Given the description of an element on the screen output the (x, y) to click on. 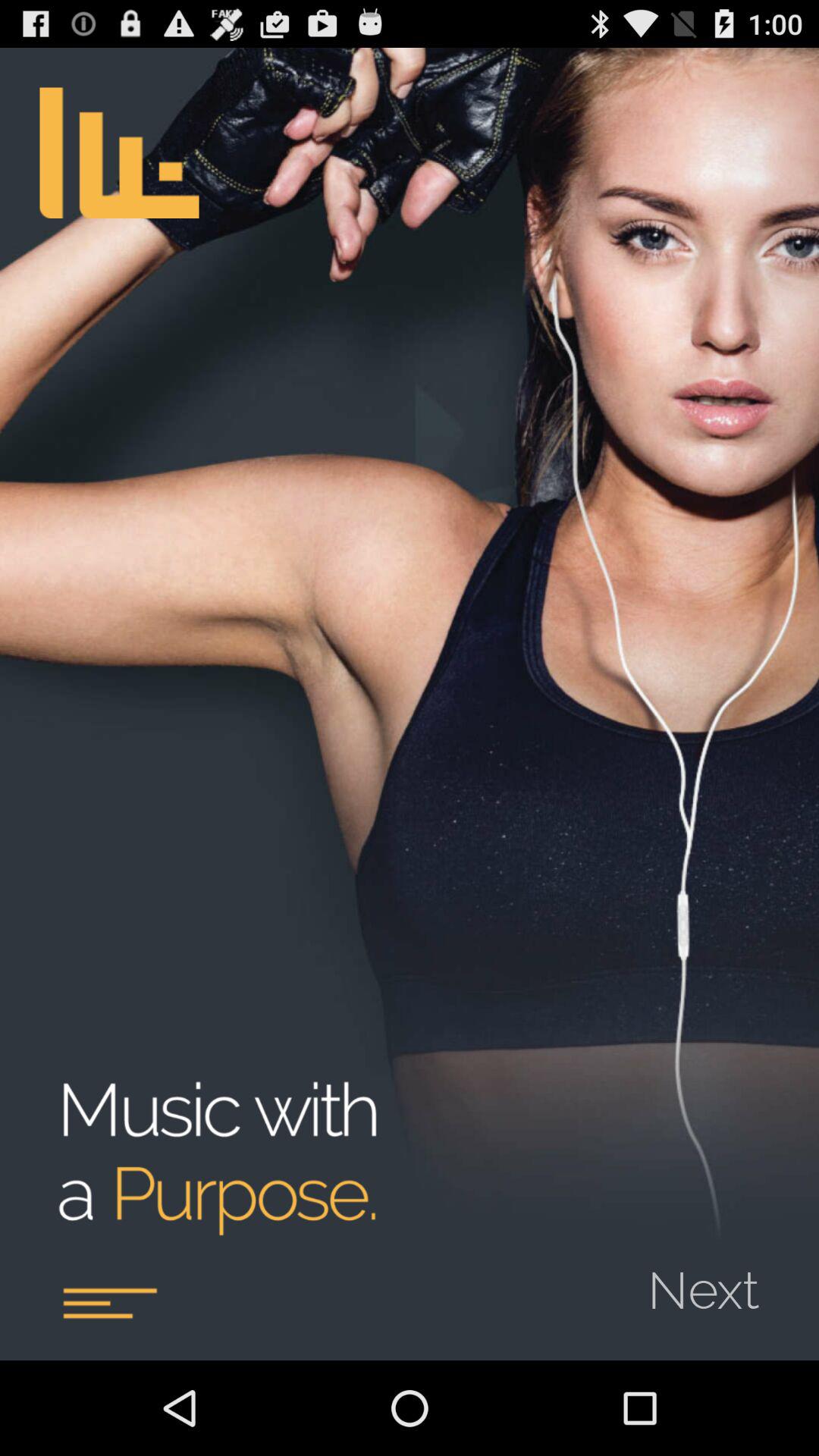
tap icon next to the next (109, 1302)
